Given the description of an element on the screen output the (x, y) to click on. 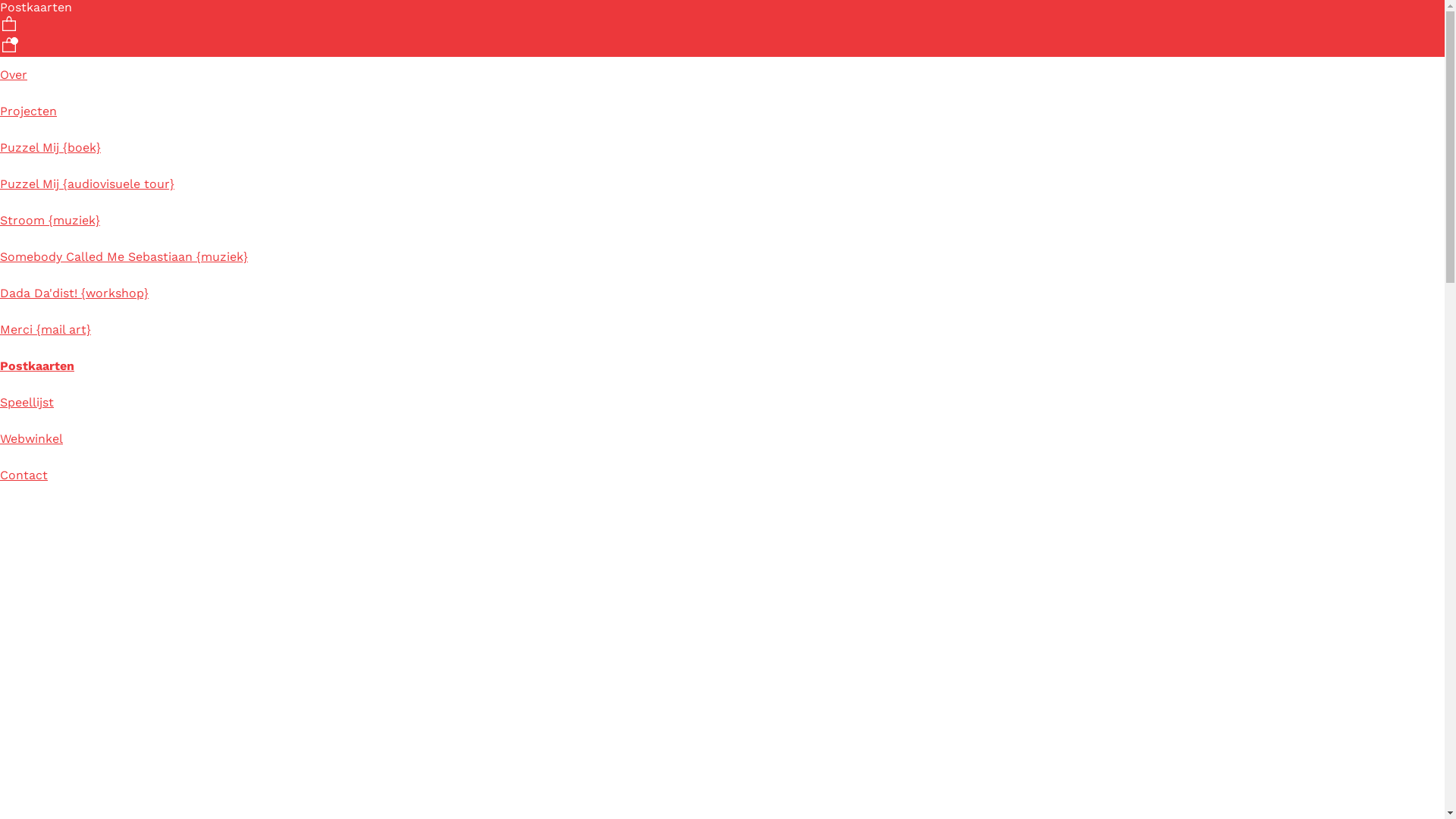
Over Element type: text (13, 74)
Webwinkel Element type: text (31, 438)
Speellijst Element type: text (26, 402)
Postkaarten Element type: text (37, 365)
Projecten Element type: text (28, 110)
Contact Element type: text (23, 474)
